Given the description of an element on the screen output the (x, y) to click on. 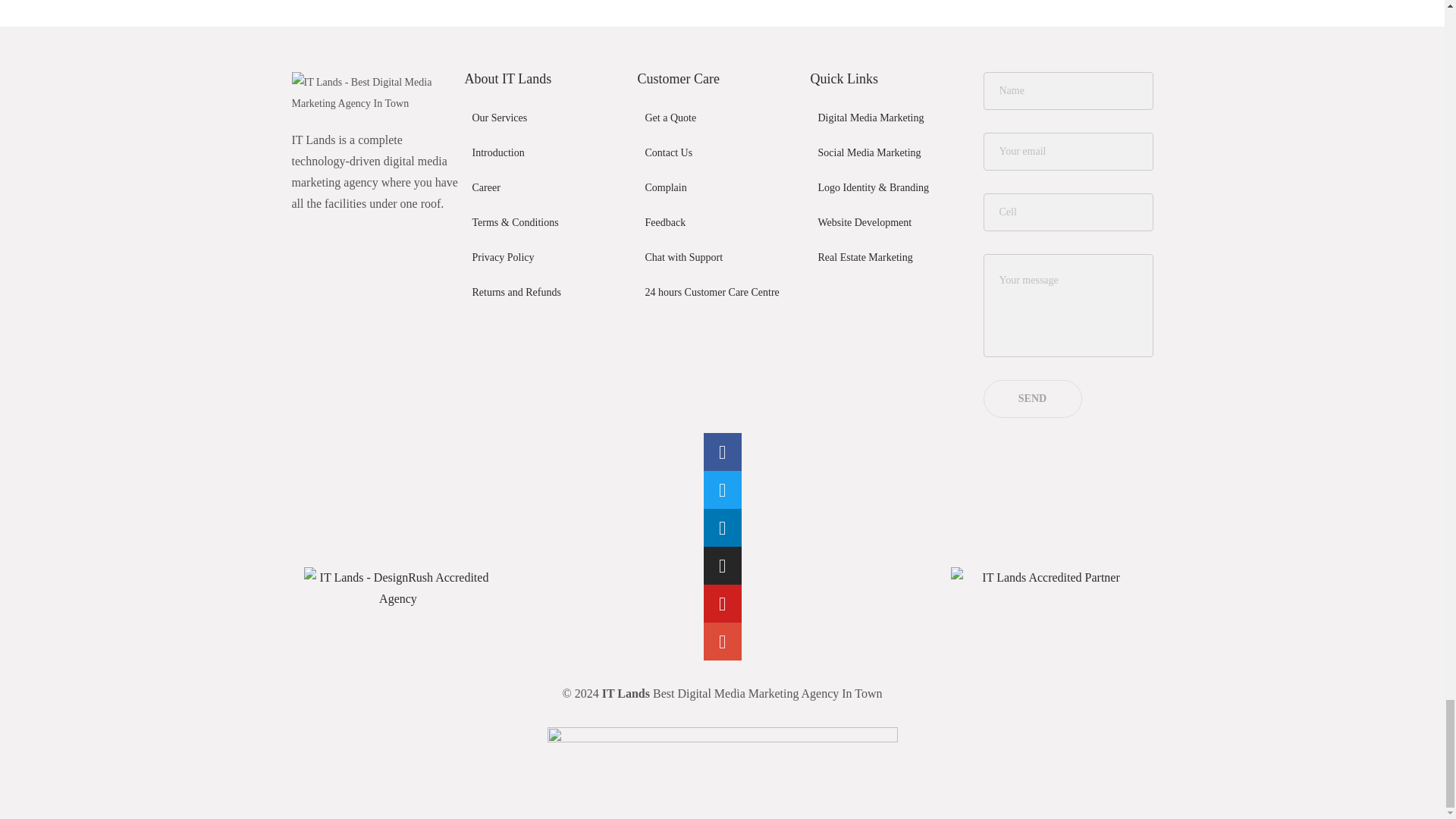
Send (1031, 398)
Returns and Refunds (545, 292)
Introduction (545, 152)
Privacy Policy (545, 257)
Career (545, 187)
Our Services (545, 117)
